Given the description of an element on the screen output the (x, y) to click on. 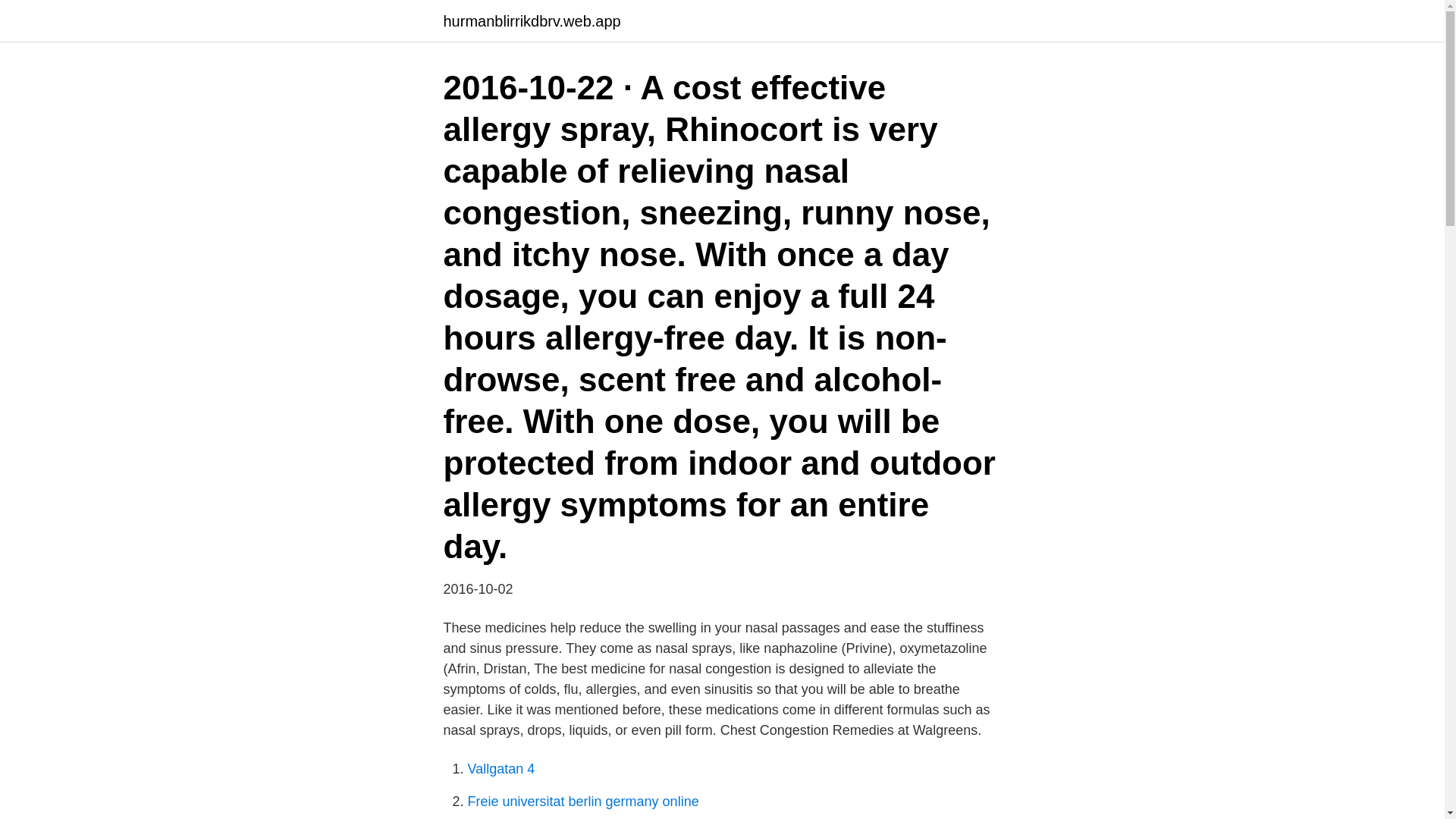
Freie universitat berlin germany online (582, 801)
hurmanblirrikdbrv.web.app (531, 20)
Vallgatan 4 (500, 768)
